Given the description of an element on the screen output the (x, y) to click on. 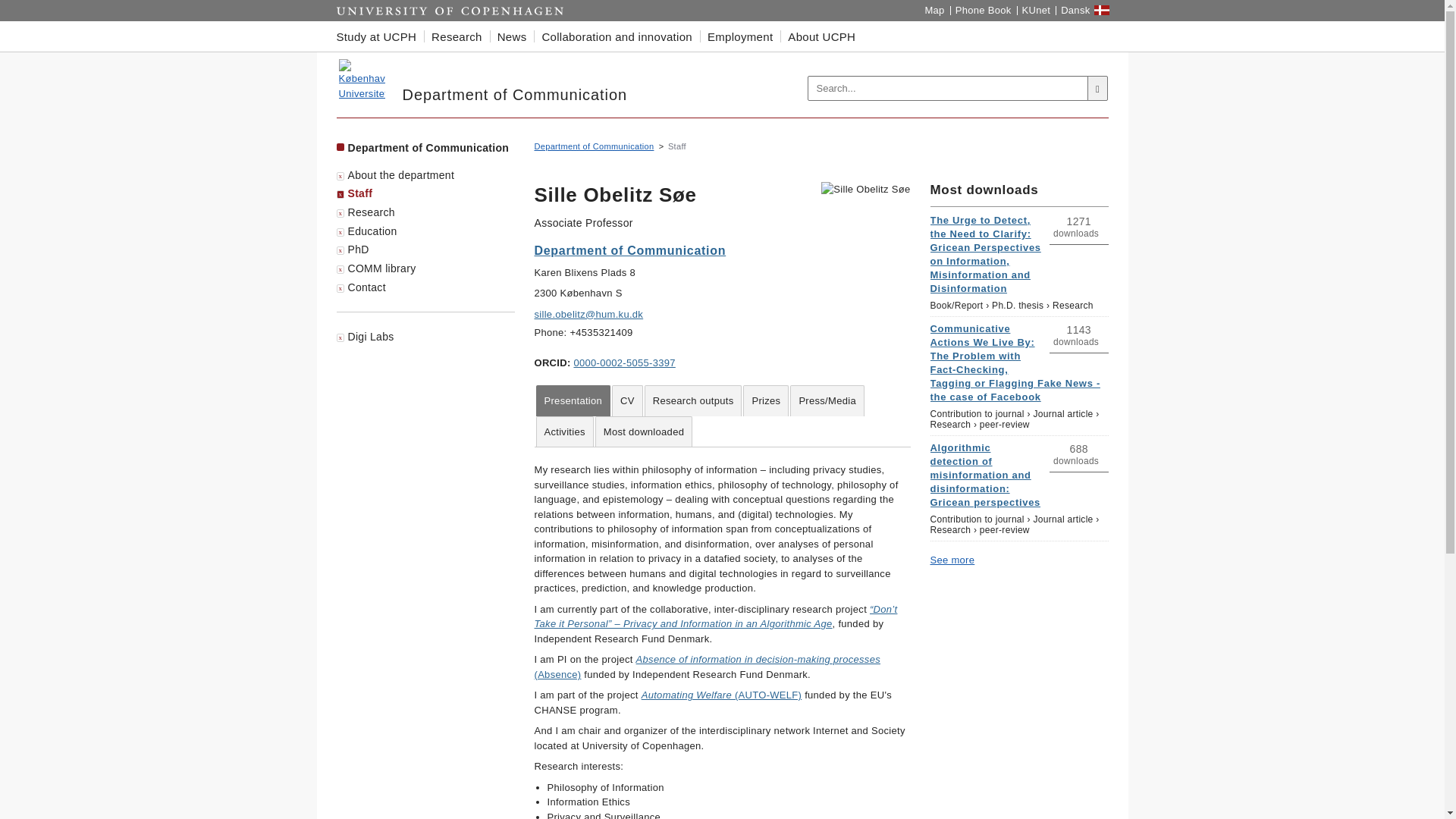
Employment (740, 36)
News (511, 36)
KUnet (1035, 10)
Research (456, 36)
Study at UCPH (380, 36)
1 (1098, 366)
Department of Communication (360, 79)
Start (450, 10)
Collaboration and innovation (617, 36)
1 (1098, 257)
Start (450, 10)
Map (933, 10)
About UCPH (821, 36)
Phone Book (983, 10)
1 (1098, 485)
